Given the description of an element on the screen output the (x, y) to click on. 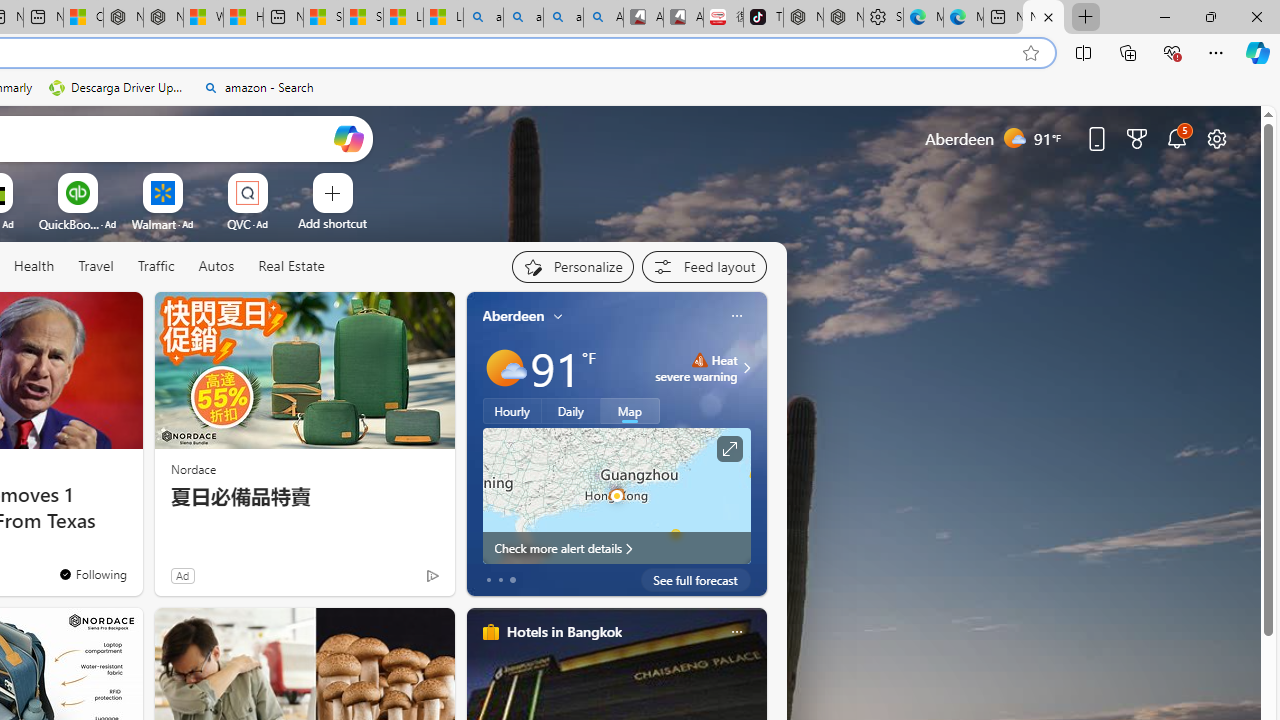
Huge shark washes ashore at New York City beach | Watch (243, 17)
Amazon Echo Robot - Search Images (603, 17)
Hotels in Bangkok (563, 631)
Health (33, 267)
Descarga Driver Updater (118, 88)
tab-1 (500, 579)
Traffic (155, 267)
Class: icon-img (736, 632)
hotels-header-icon (490, 632)
tab-2 (511, 579)
